Given the description of an element on the screen output the (x, y) to click on. 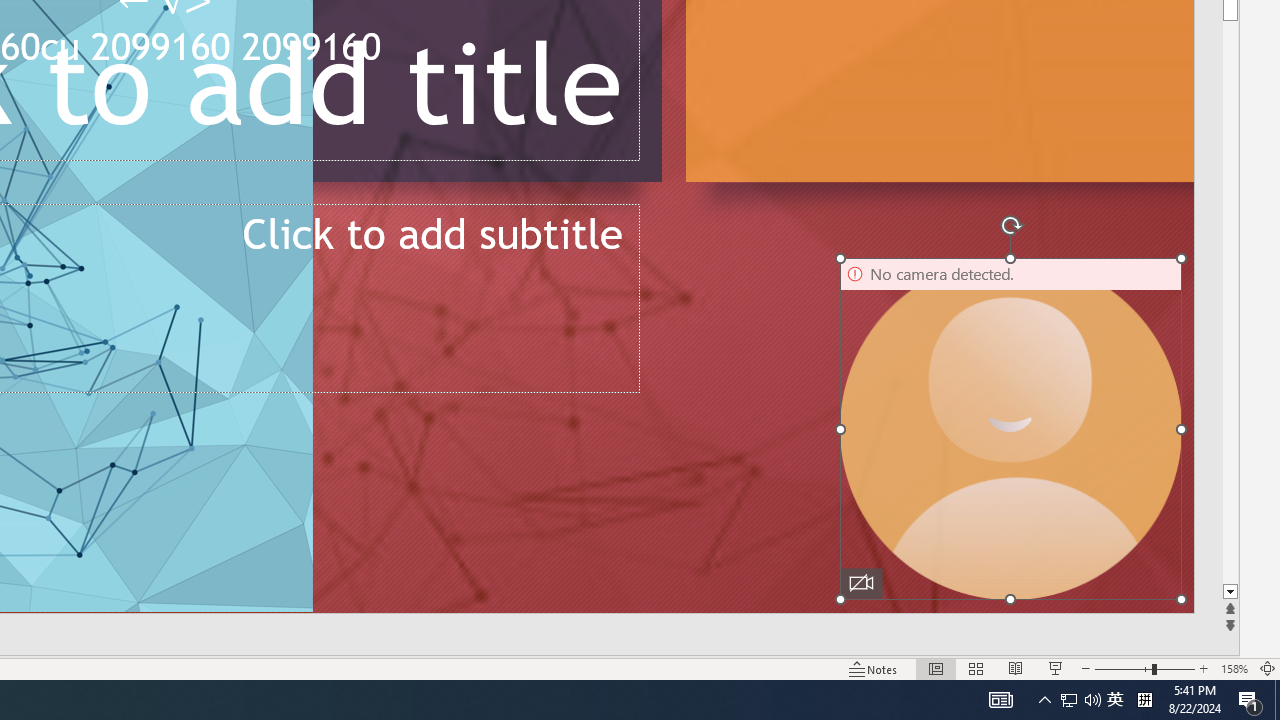
Zoom 158% (1234, 668)
Camera 16, No camera detected. (1010, 429)
